Given the description of an element on the screen output the (x, y) to click on. 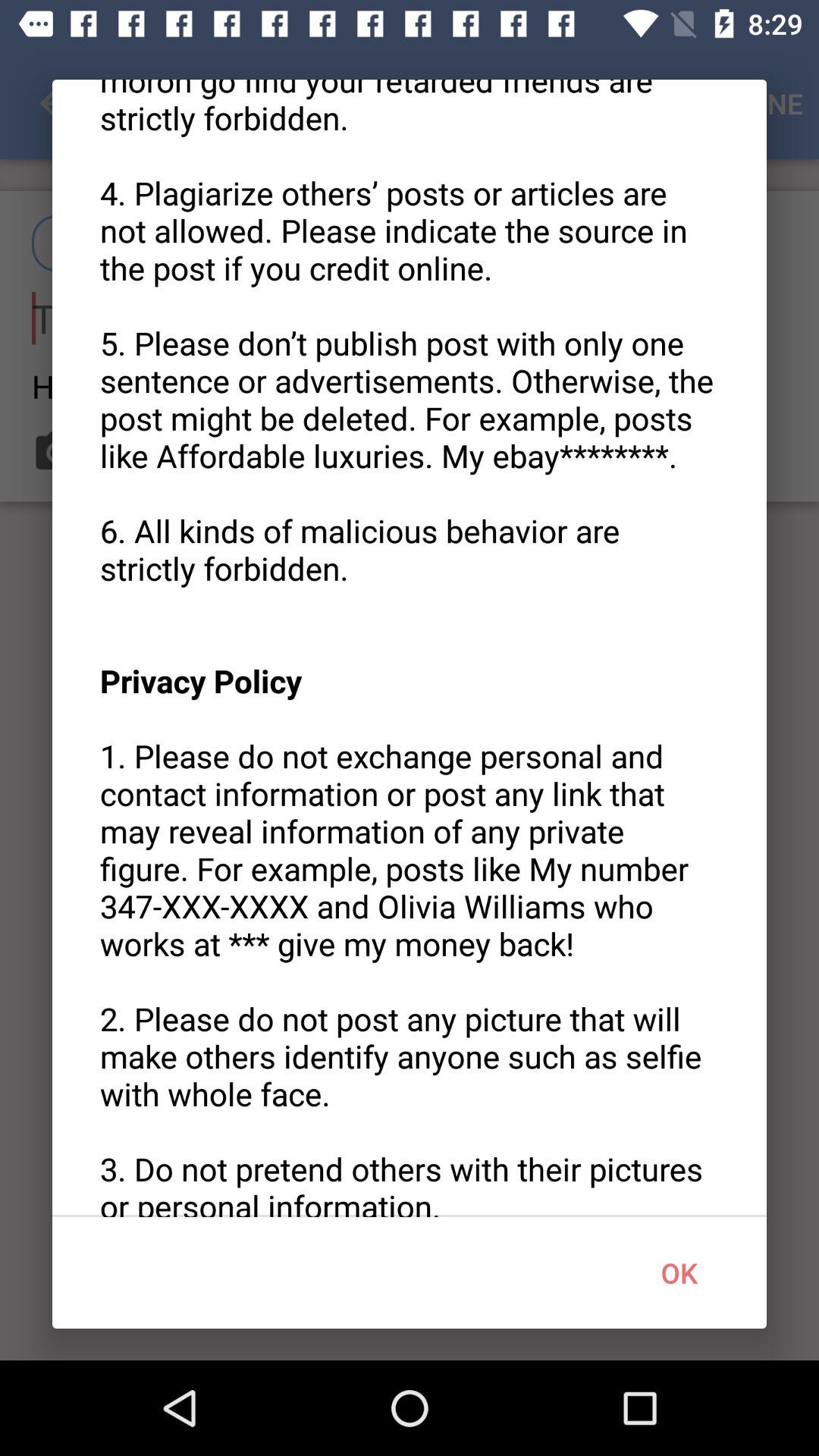
jump to the ok item (678, 1272)
